Given the description of an element on the screen output the (x, y) to click on. 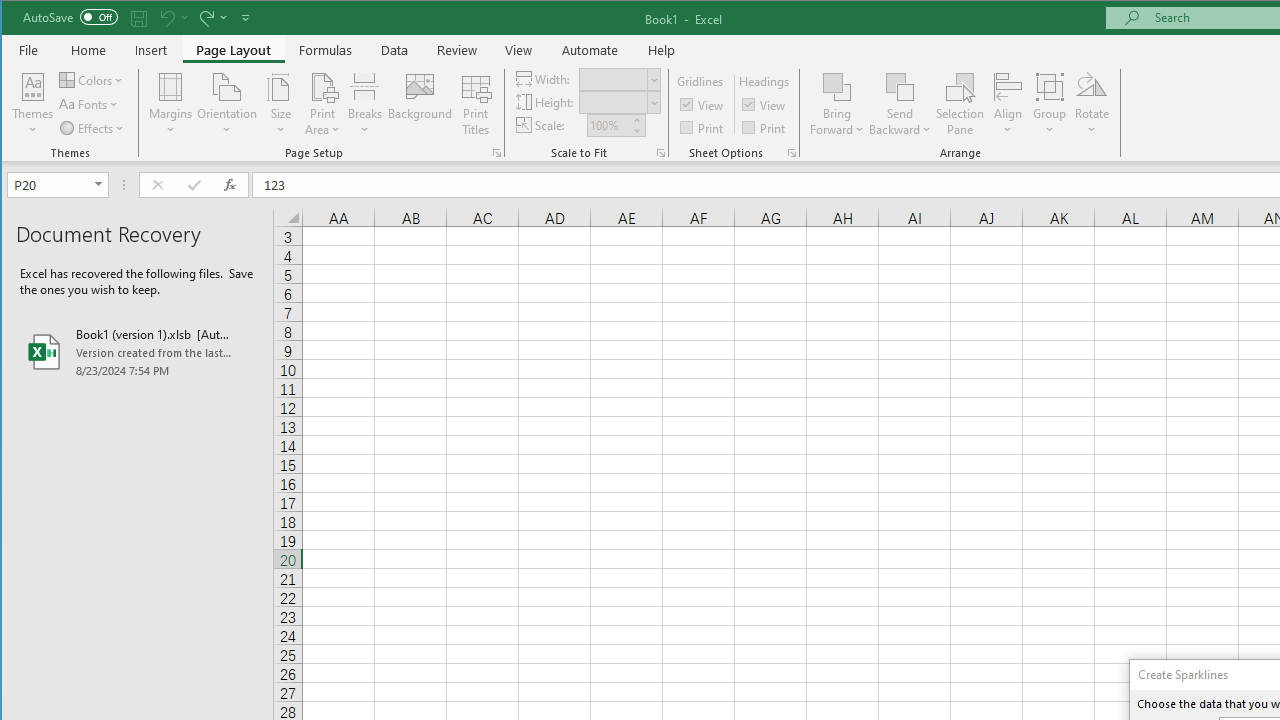
Selection Pane... (960, 104)
Effects (93, 127)
Scale (607, 125)
More (636, 120)
Send Backward (900, 86)
Print Titles (475, 104)
Height (619, 101)
Bring Forward (836, 86)
